Given the description of an element on the screen output the (x, y) to click on. 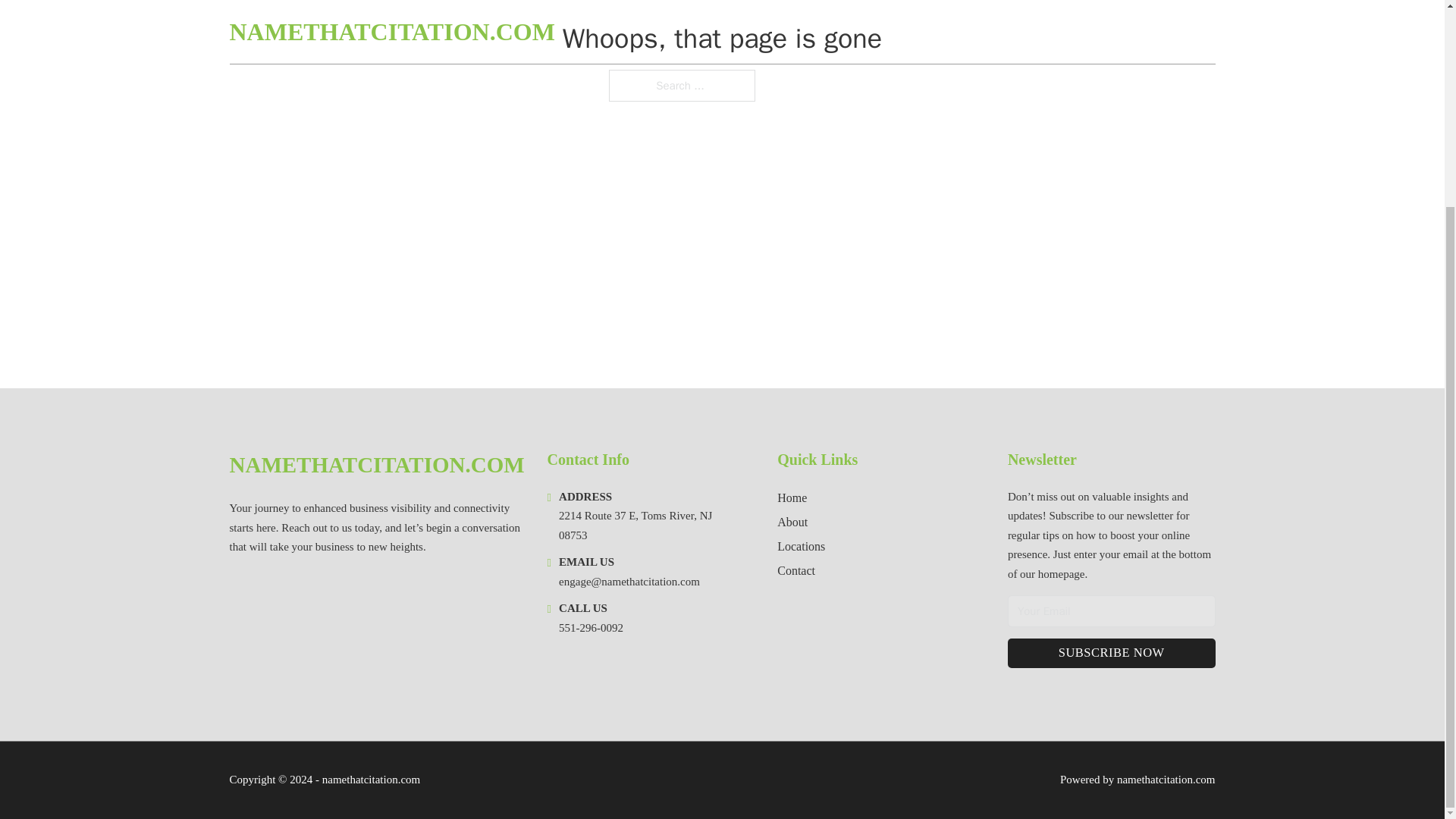
Contact (796, 570)
Locations (801, 546)
551-296-0092 (591, 627)
Home (791, 497)
SUBSCRIBE NOW (1111, 653)
NAMETHATCITATION.COM (376, 465)
About (792, 521)
